Given the description of an element on the screen output the (x, y) to click on. 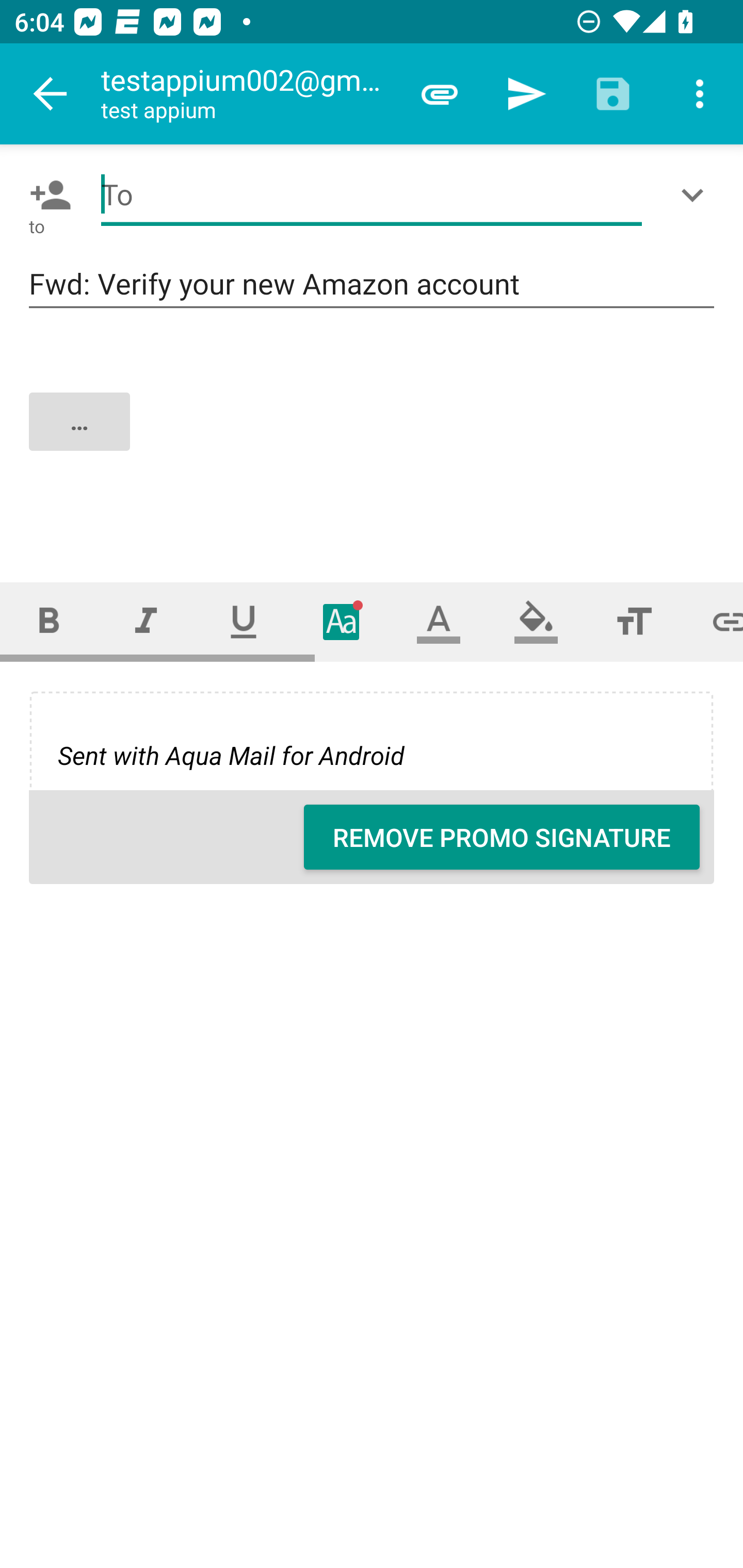
Navigate up (50, 93)
testappium002@gmail.com test appium (248, 93)
Attach (439, 93)
Send (525, 93)
Save (612, 93)
More options (699, 93)
Pick contact: To (46, 195)
Show/Add CC/BCC (696, 195)
To (371, 195)
Fwd: Verify your new Amazon account (371, 284)

…
 (372, 438)
Bold (48, 621)
Italic (145, 621)
Underline (243, 621)
Typeface (font) (341, 621)
Text color (438, 621)
Fill color (536, 621)
Font size (633, 621)
REMOVE PROMO SIGNATURE (501, 837)
